Given the description of an element on the screen output the (x, y) to click on. 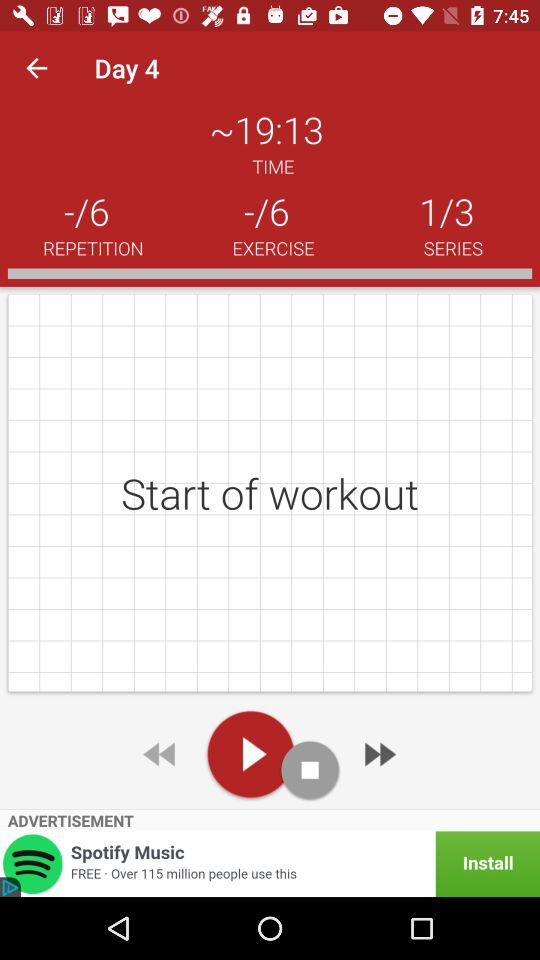
next workout (378, 754)
